Given the description of an element on the screen output the (x, y) to click on. 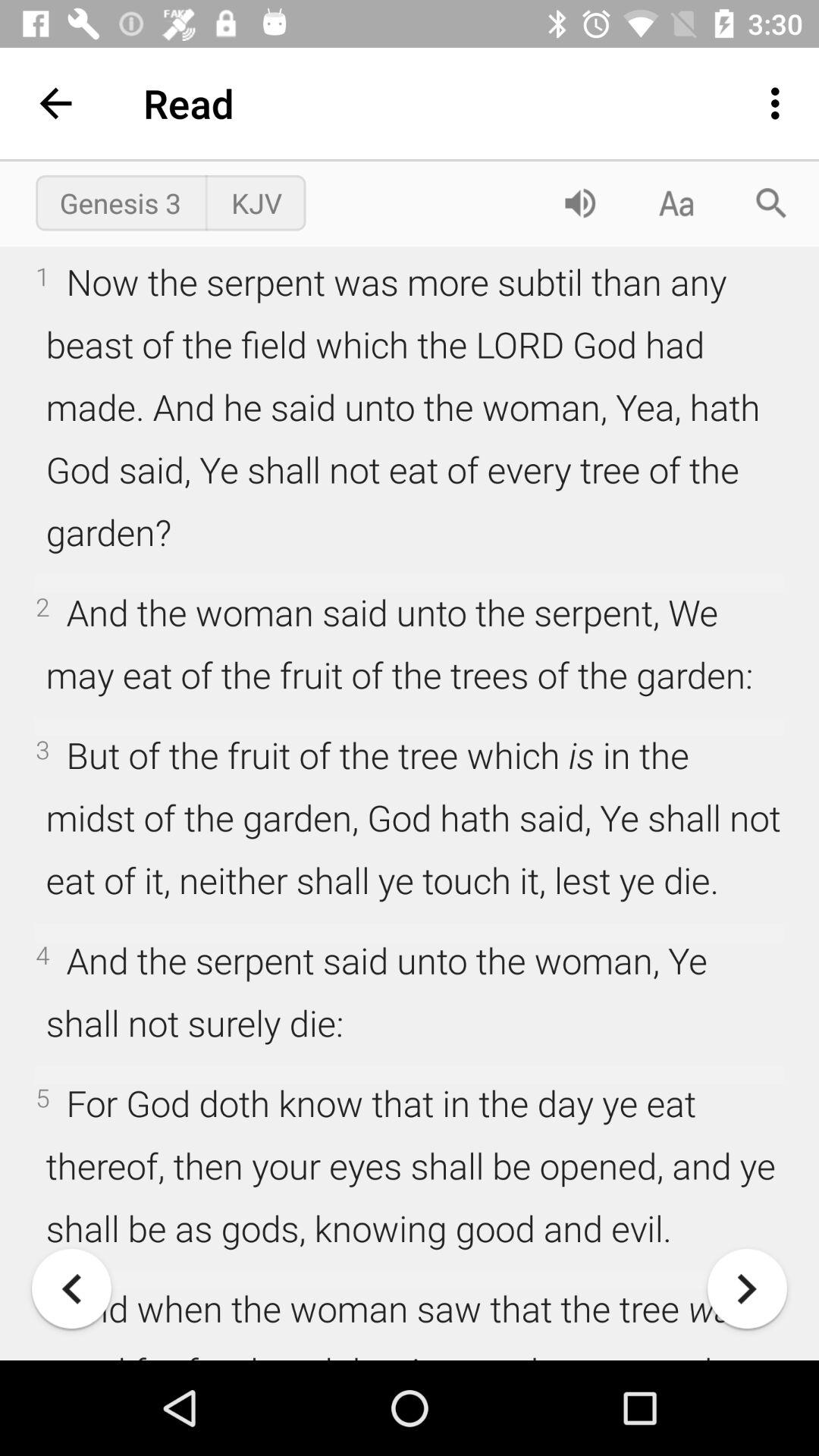
turn off the icon above 1 now the (579, 202)
